Given the description of an element on the screen output the (x, y) to click on. 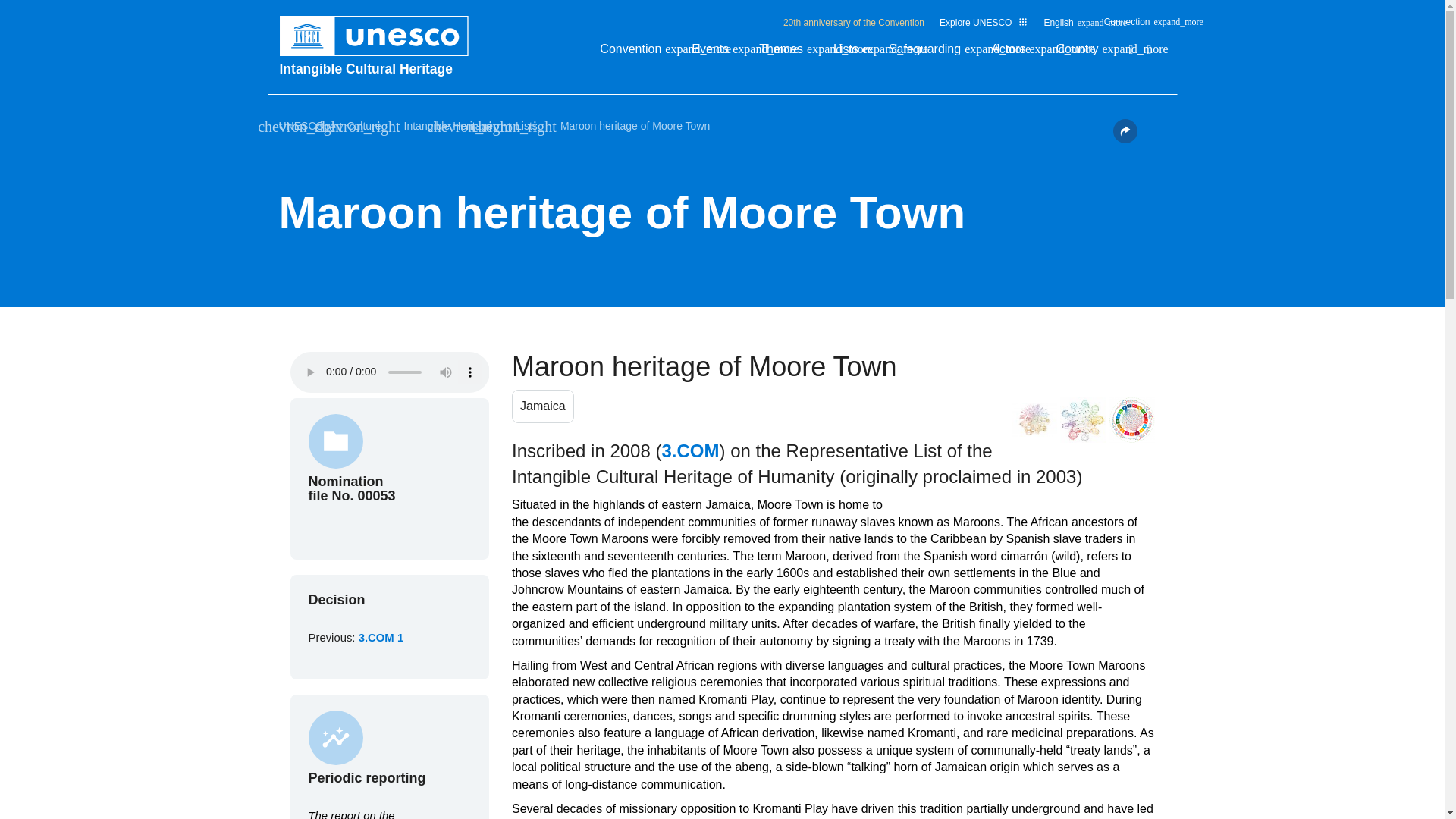
Safeguarding (931, 52)
Convention (638, 52)
Link to UNESCO portal (381, 35)
Themes (788, 52)
Events (717, 52)
English (1065, 26)
20th anniversary of the Convention (853, 22)
Actors (1016, 52)
Explore UNESCO (983, 22)
See it in the constellation (1034, 420)
Connection (1134, 26)
English (1065, 26)
See the links between this element and environment (1082, 420)
Intangible Cultural Heritage (381, 68)
Convention (638, 52)
